Given the description of an element on the screen output the (x, y) to click on. 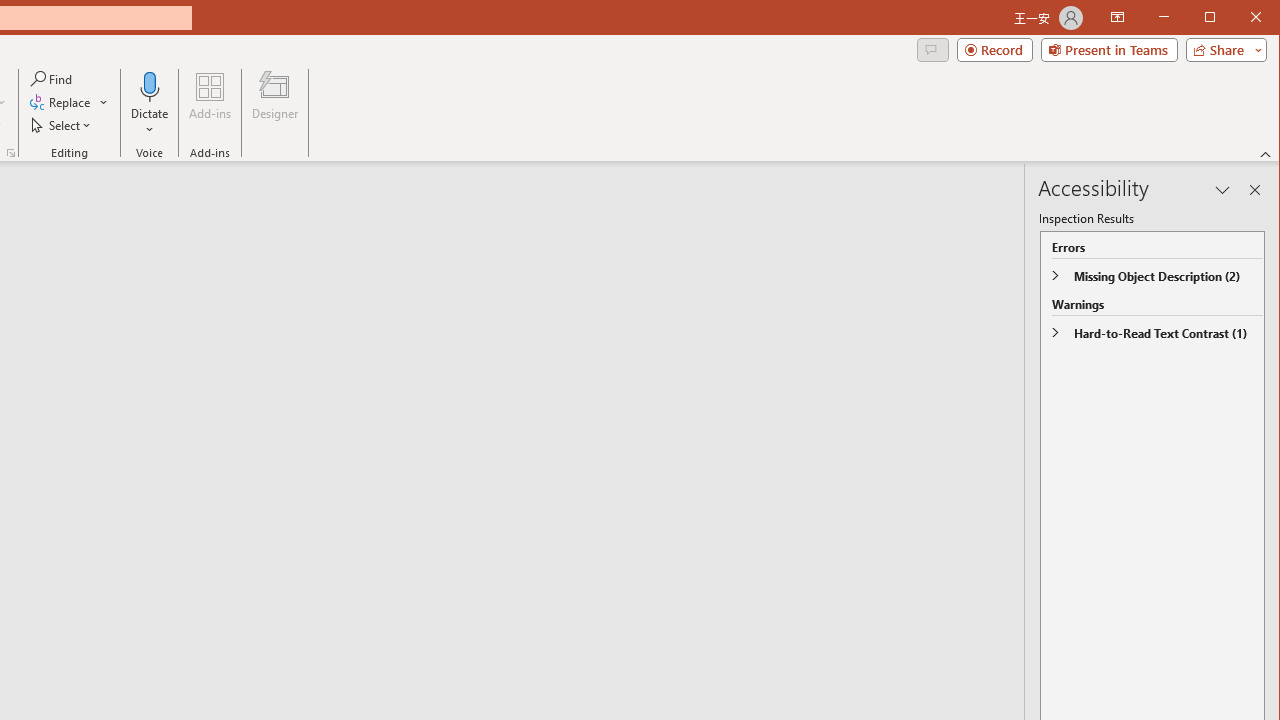
Maximize (1238, 18)
